Given the description of an element on the screen output the (x, y) to click on. 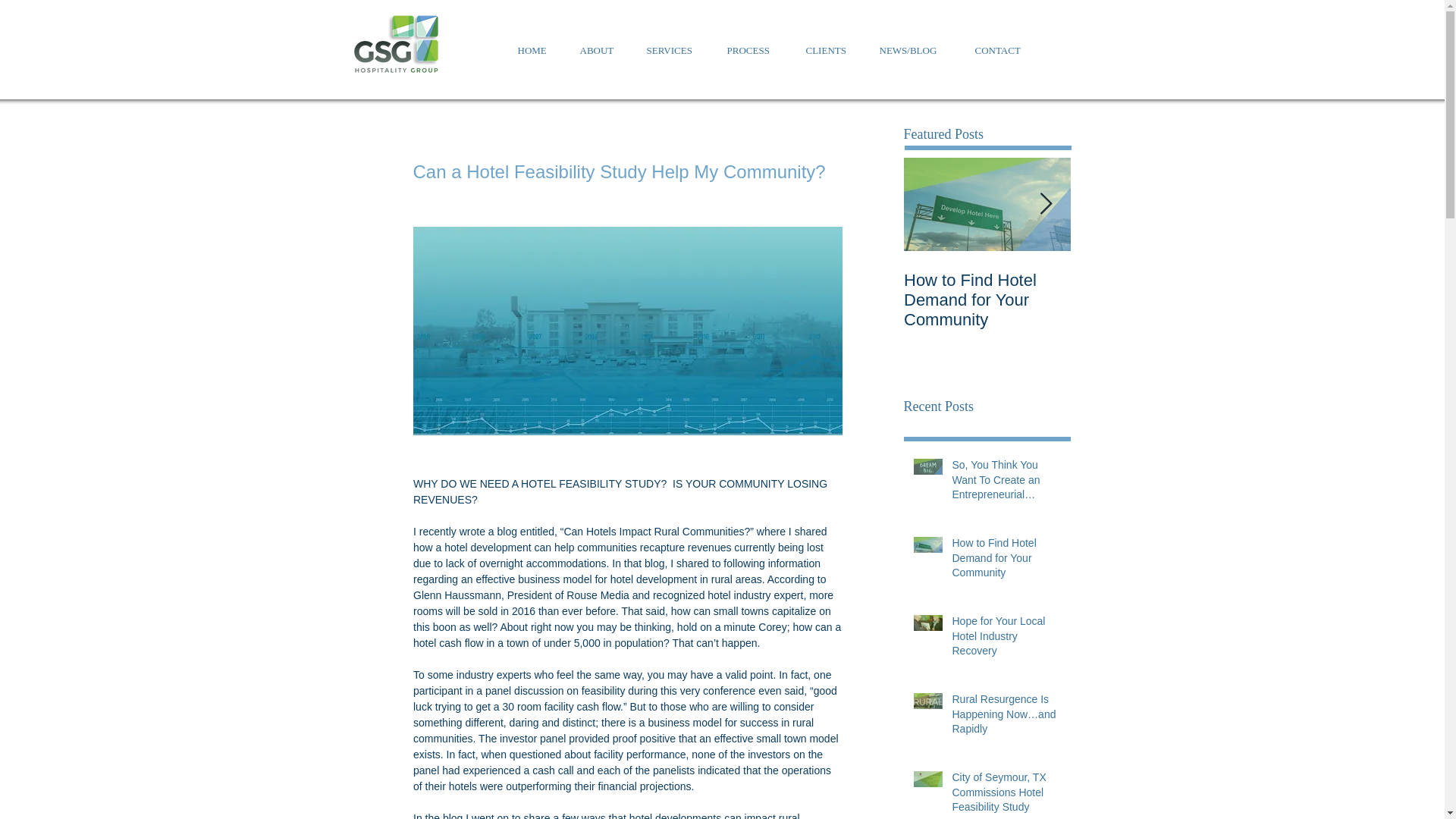
PROCESS (750, 50)
Hope for Your Local Hotel Industry Recovery (1153, 300)
CONTACT (1000, 50)
Hope for Your Local Hotel Industry Recovery (1006, 639)
City of Seymour, TX Commissions Hotel Feasibility Study (1006, 794)
How to Find Hotel Demand for Your Community (987, 300)
How to Find Hotel Demand for Your Community (1006, 561)
